Given the description of an element on the screen output the (x, y) to click on. 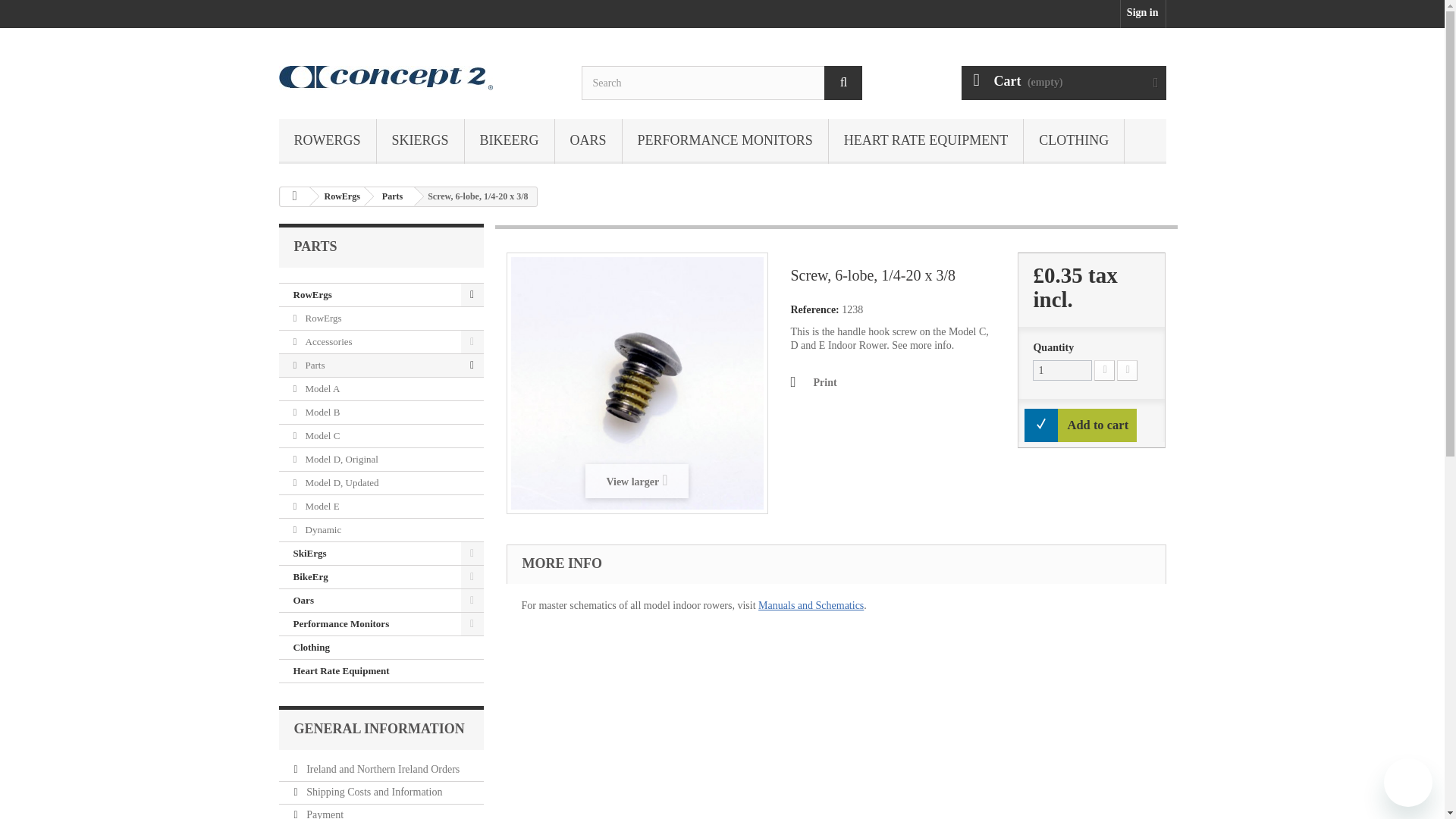
View my shopping cart (1063, 82)
RowErgs (327, 140)
SKIERGS (420, 140)
OARS (587, 140)
Sign in (1143, 13)
Log in to your customer account (1143, 13)
Concept2 Shop (419, 78)
1 (1062, 370)
ROWERGS (327, 140)
